Given the description of an element on the screen output the (x, y) to click on. 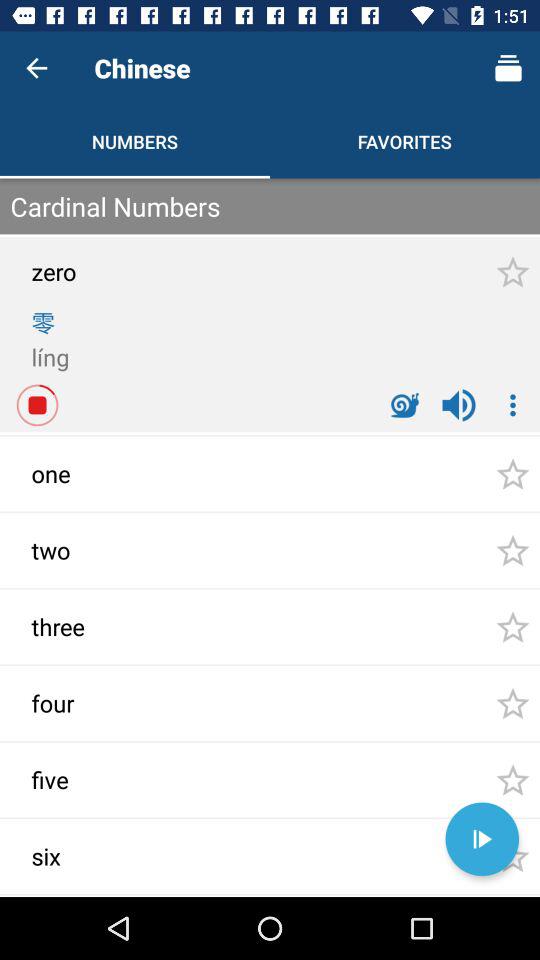
the text five present above six (90, 784)
click on the first star at top (512, 271)
click on the icon on the topmost right next to chinese (508, 68)
